Given the description of an element on the screen output the (x, y) to click on. 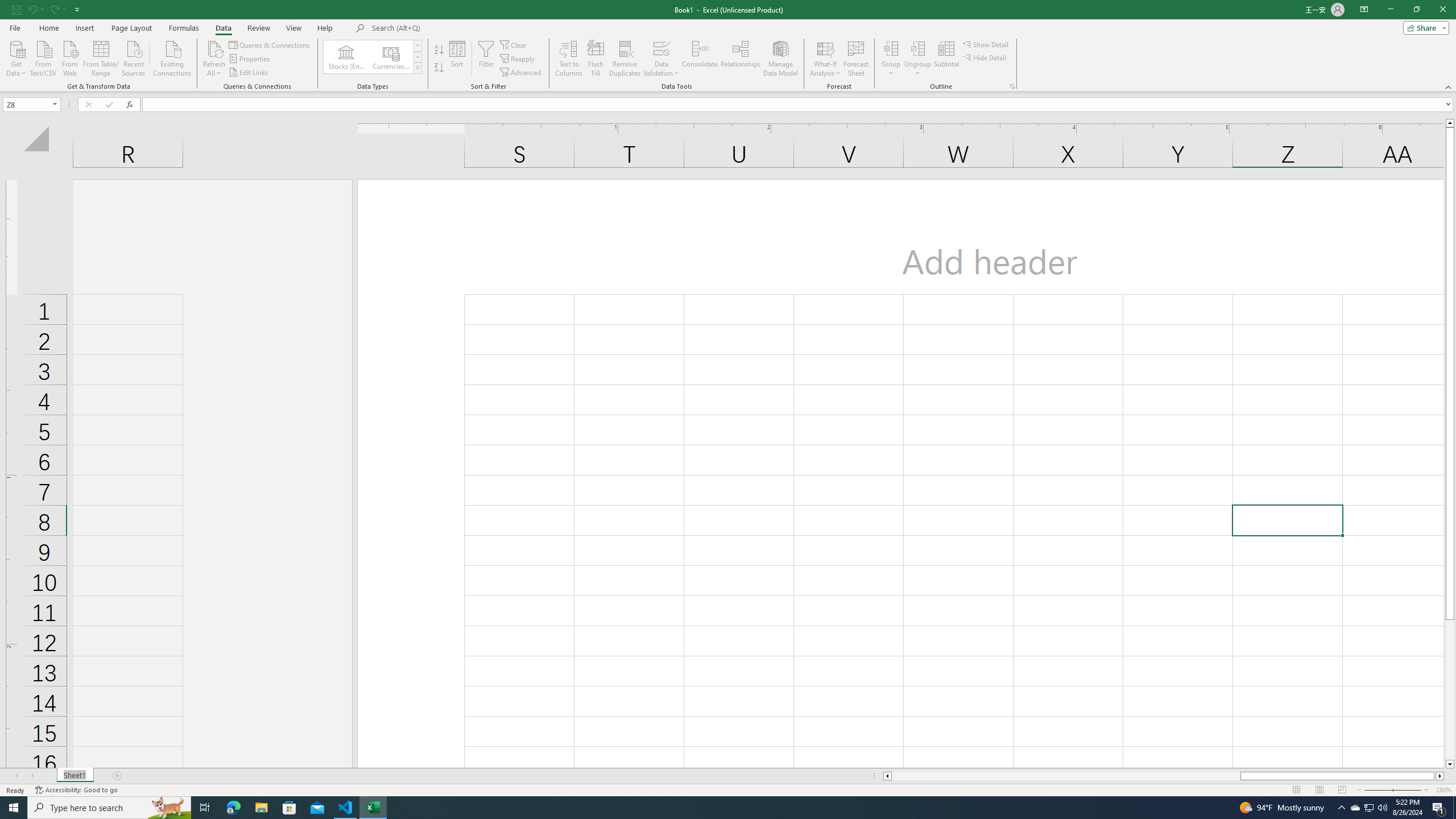
Column right (1440, 775)
Clear (513, 44)
Class: MsoCommandBar (728, 45)
Line up (1449, 122)
Ungroup... (917, 48)
AutomationID: ConvertToLinkedEntity (372, 56)
Group... (890, 48)
Column left (886, 775)
Data Validation... (661, 48)
Data Validation... (661, 58)
Sort... (456, 58)
Ungroup... (917, 58)
